Given the description of an element on the screen output the (x, y) to click on. 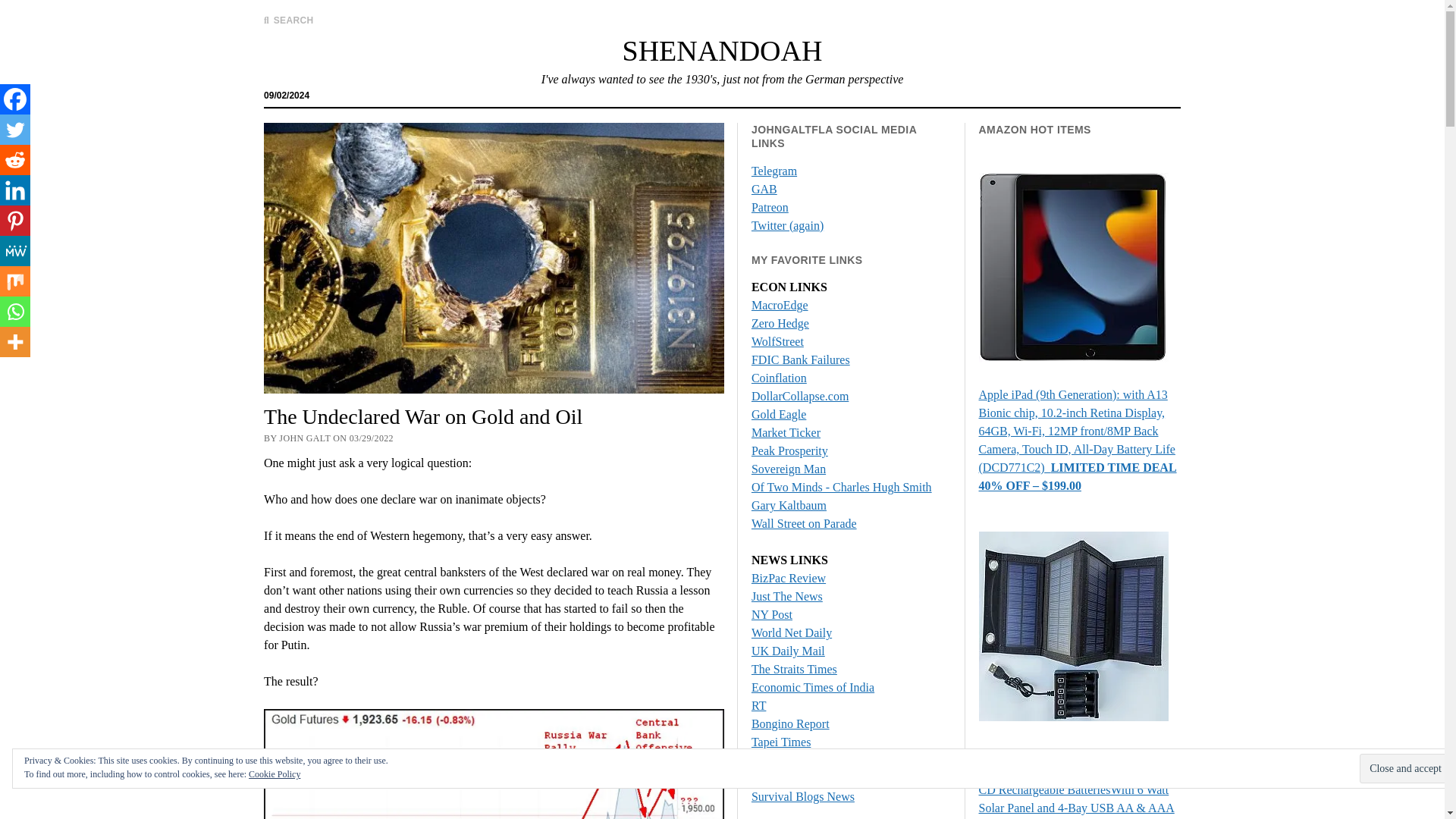
SHENANDOAH (722, 50)
Search (945, 129)
SEARCH (288, 20)
